Given the description of an element on the screen output the (x, y) to click on. 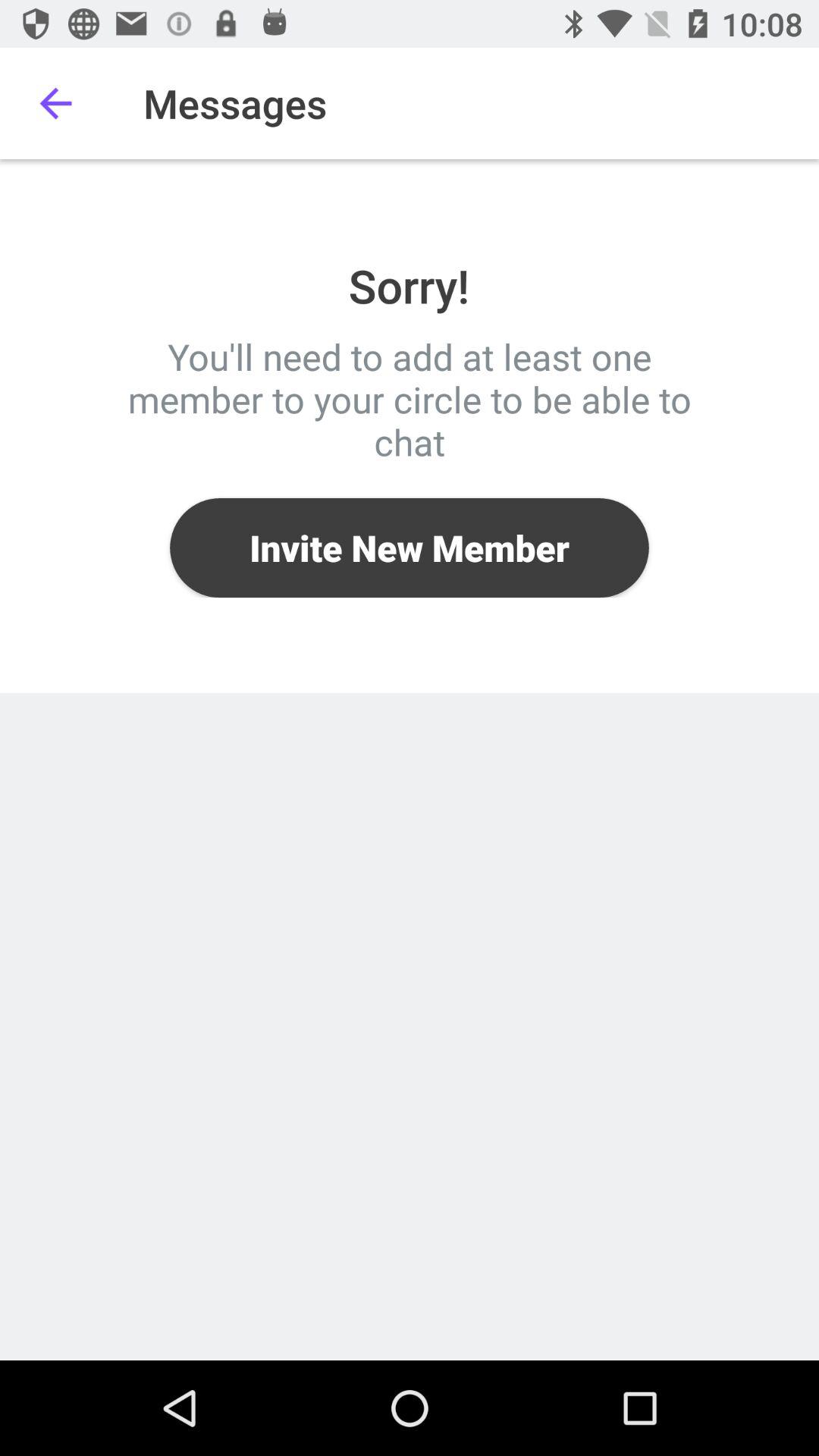
turn off the icon below you ll need item (409, 547)
